Given the description of an element on the screen output the (x, y) to click on. 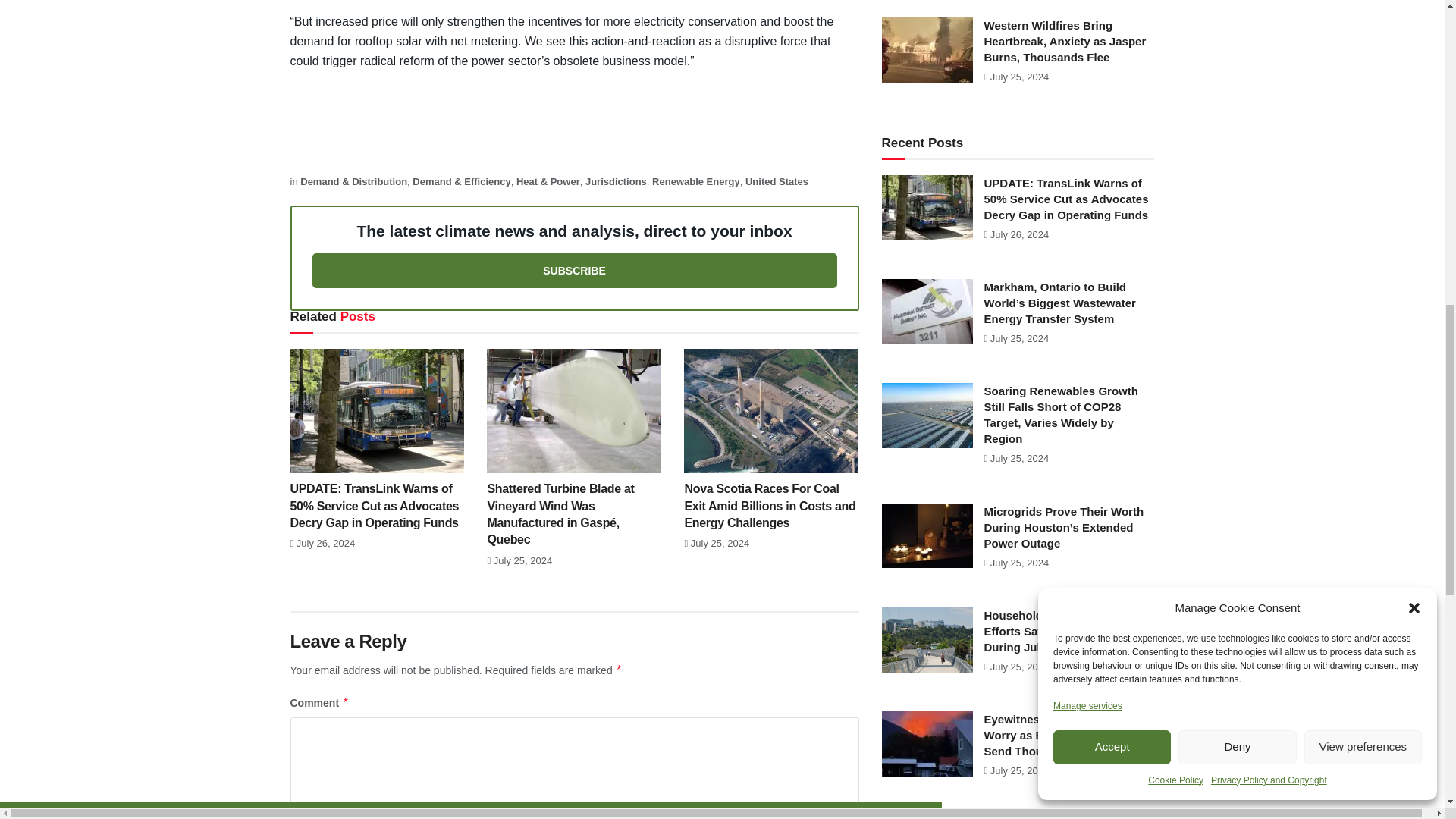
View Subscription Options (575, 270)
